Given the description of an element on the screen output the (x, y) to click on. 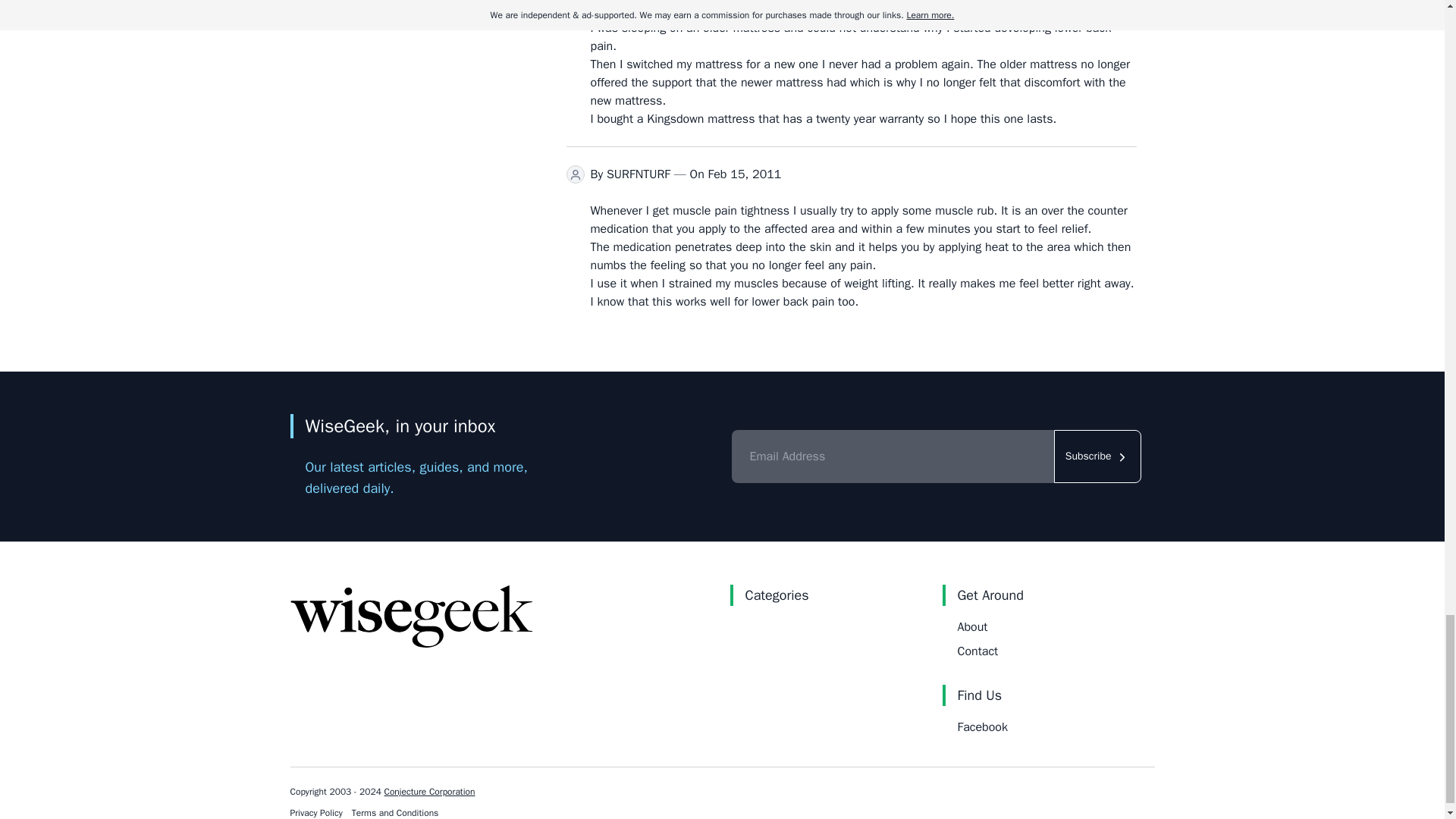
Facebook (981, 726)
About (971, 626)
Subscribe (1097, 456)
Contact (976, 651)
